Given the description of an element on the screen output the (x, y) to click on. 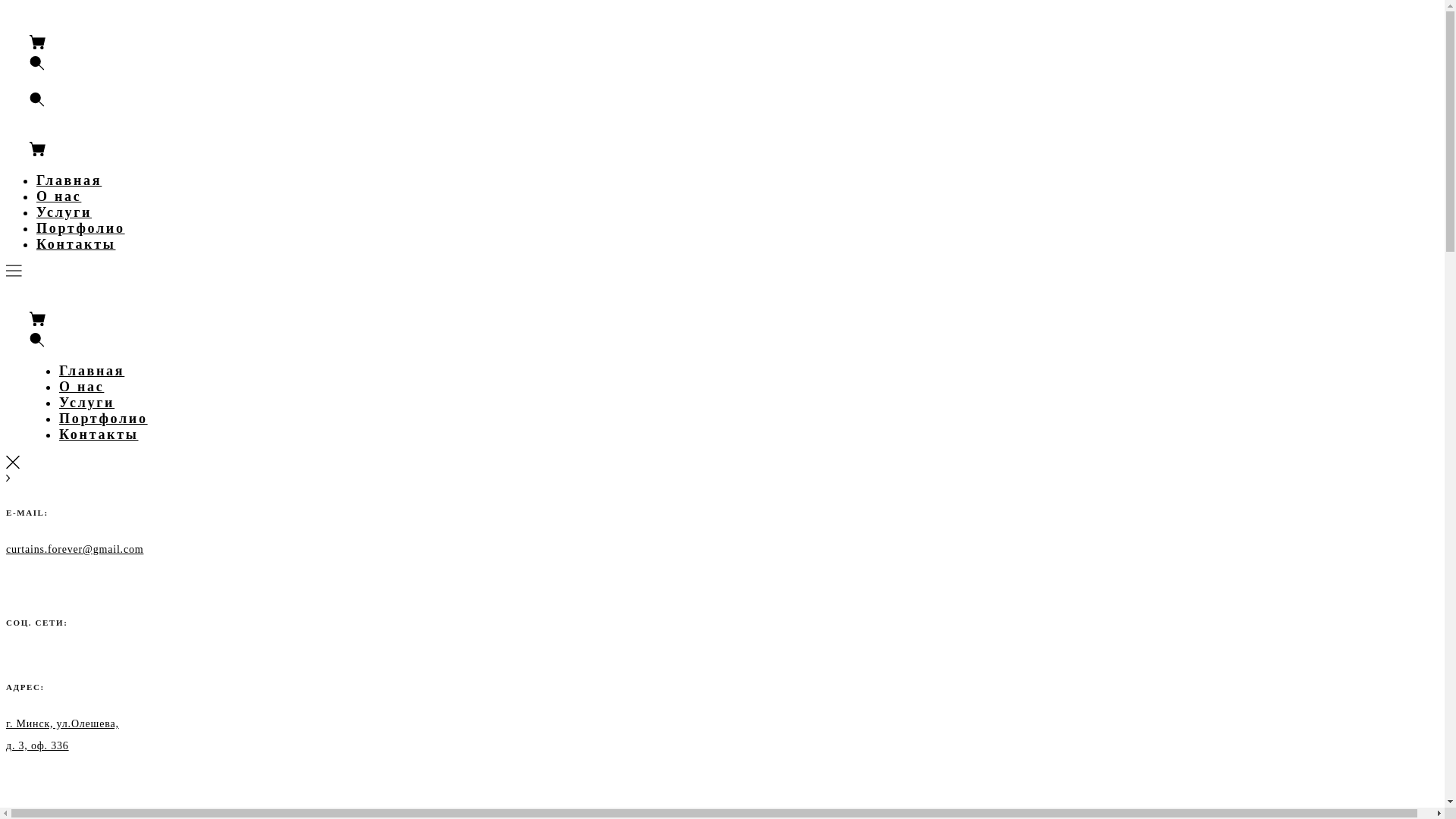
curtains.forever@gmail.com Element type: text (74, 548)
